Given the description of an element on the screen output the (x, y) to click on. 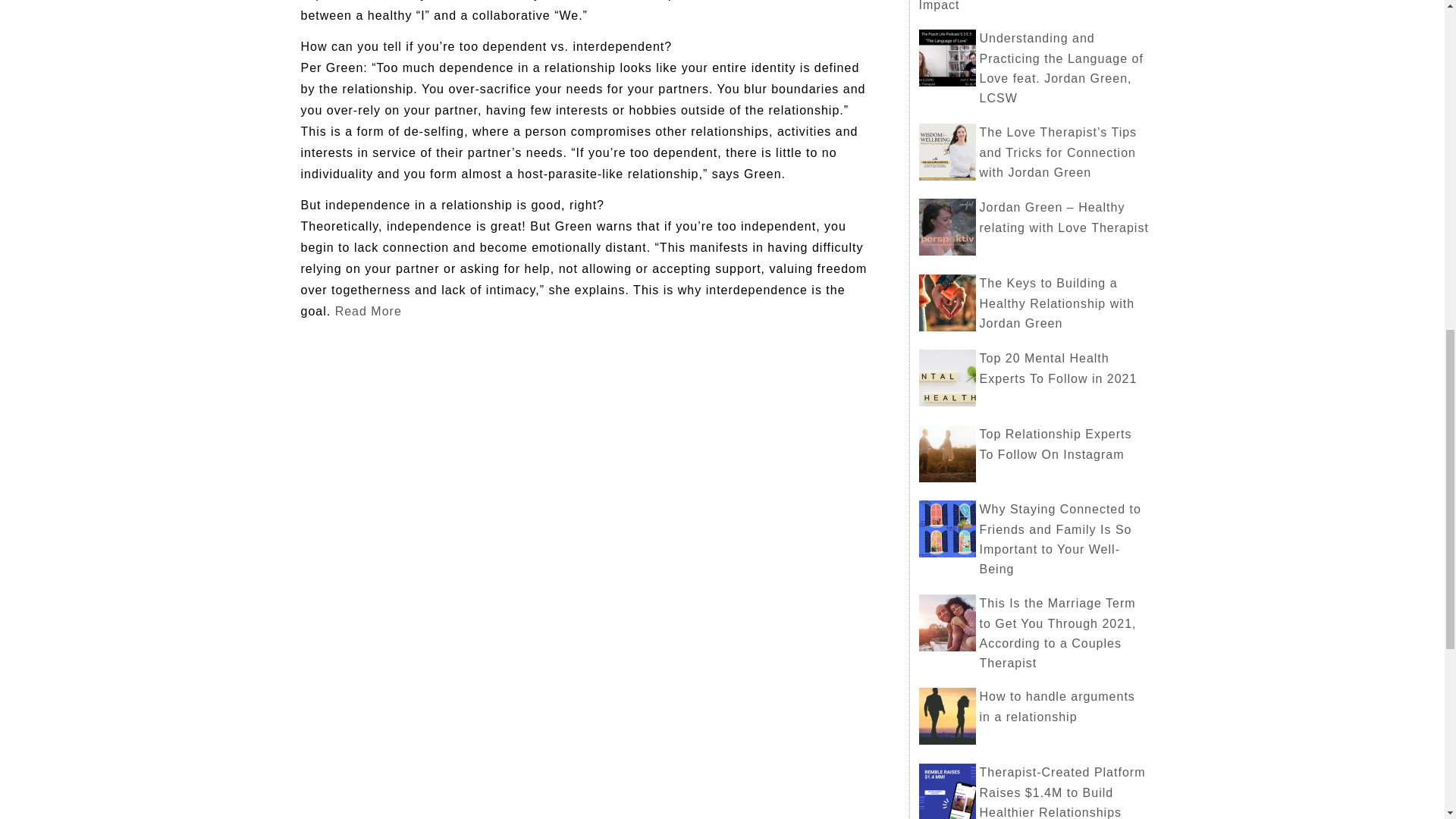
How to handle arguments in a relationship (1057, 706)
Top Relationship Experts To Follow On Instagram (1055, 444)
Read More (367, 310)
Top 20 Mental Health Experts To Follow in 2021 (1058, 368)
